Given the description of an element on the screen output the (x, y) to click on. 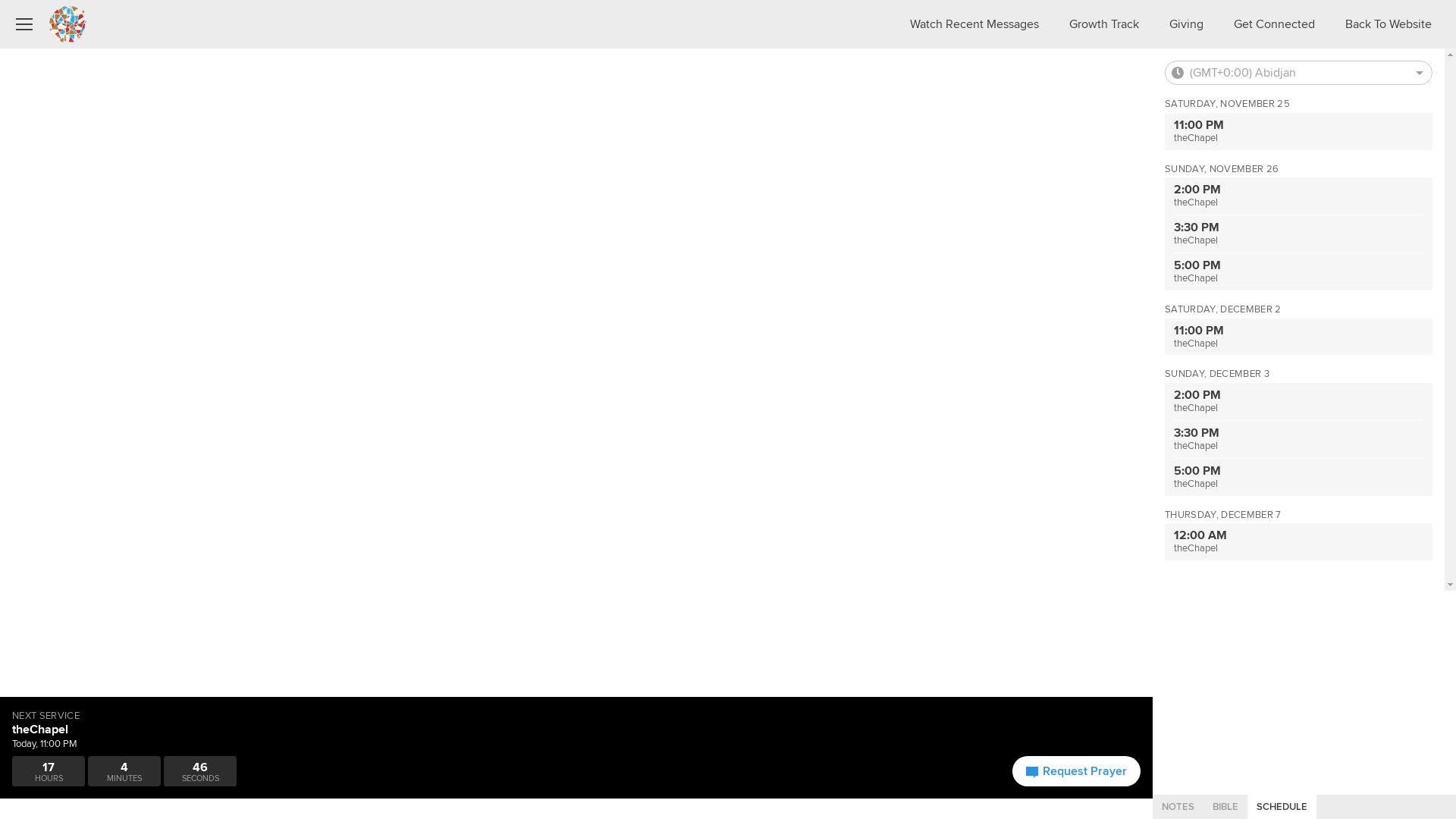
Growth Track
Opens In New Tab Element type: text (1104, 24)
Watch Recent Messages
Opens In New Tab Element type: text (973, 24)
Get Connected
Opens In New Tab Element type: text (1274, 24)
Giving
Opens In New Tab Element type: text (1186, 24)
Request Prayer Element type: text (1076, 771)
Back To Website
Opens In New Tab Element type: text (1388, 24)
